Given the description of an element on the screen output the (x, y) to click on. 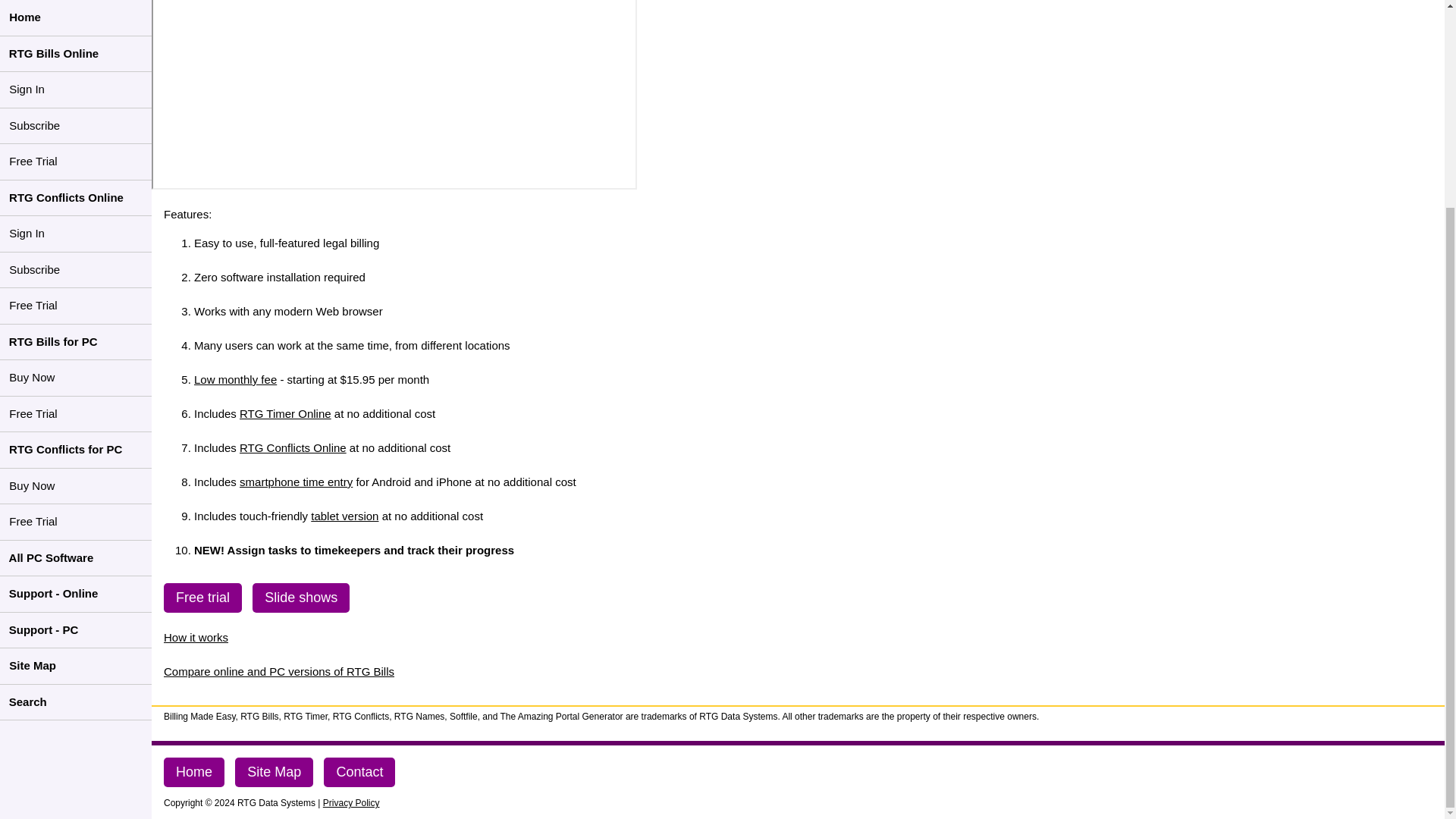
Home (193, 772)
Support - Online (75, 325)
RTG Bills for PC (75, 74)
Buy Now (75, 217)
Low monthly fee (234, 379)
Site Map (273, 772)
Subscribe (72, 9)
RTG Conflicts for PC (75, 181)
Compare online and PC versions of RTG Bills (278, 671)
How it works (195, 636)
